Given the description of an element on the screen output the (x, y) to click on. 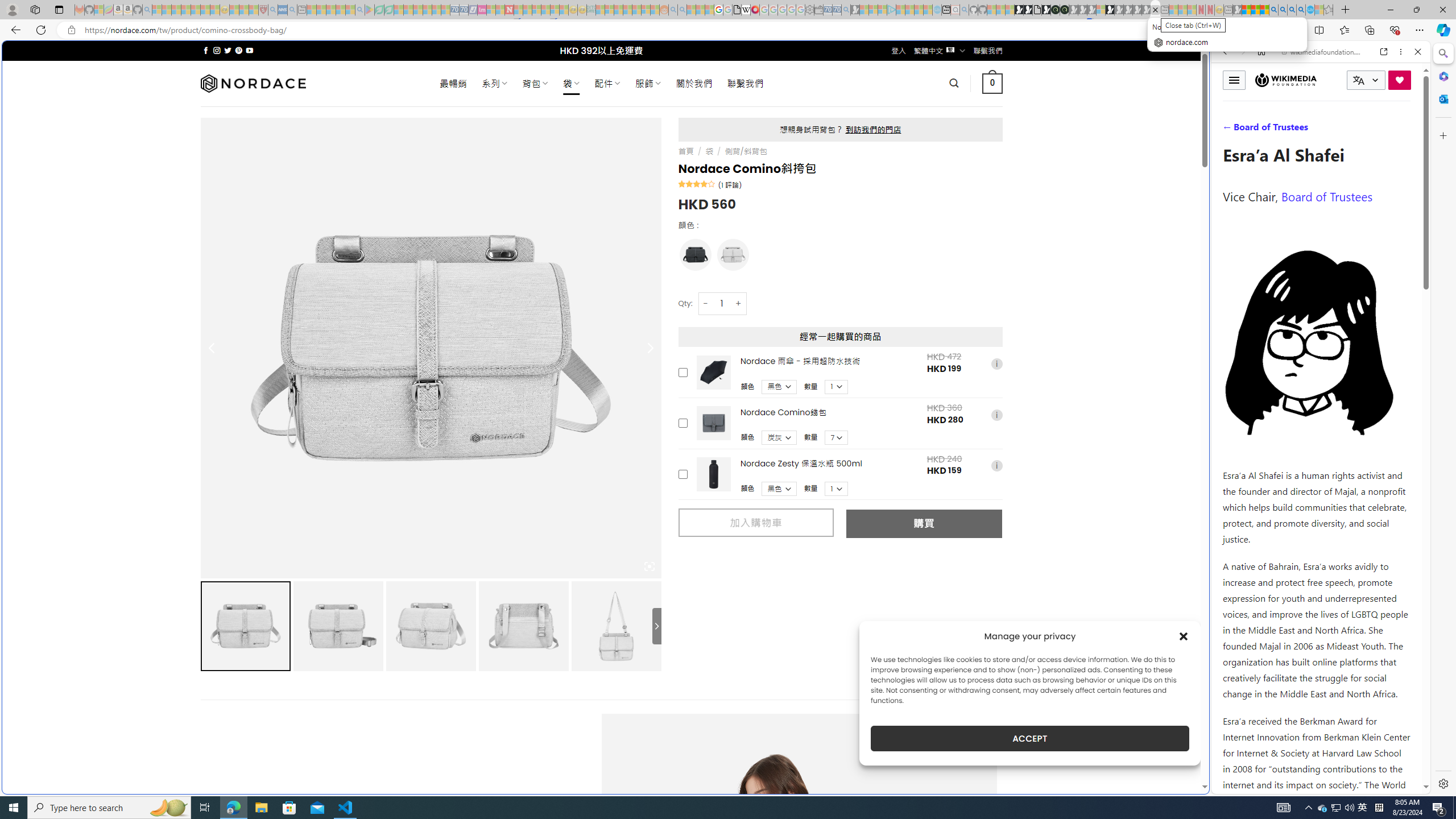
Expert Portfolios - Sleeping (627, 9)
Cheap Hotels - Save70.com - Sleeping (463, 9)
Microsoft account | Privacy - Sleeping (882, 9)
Latest Politics News & Archive | Newsweek.com - Sleeping (508, 9)
New Report Confirms 2023 Was Record Hot | Watch - Sleeping (195, 9)
Terms of Use Agreement - Sleeping (378, 9)
Follow on Twitter (227, 50)
Copilot (Ctrl+Shift+.) (1442, 29)
This site has coupons! Shopping in Microsoft Edge, 4 (1243, 29)
Bluey: Let's Play! - Apps on Google Play - Sleeping (369, 9)
Favorites - Sleeping (1328, 9)
